Given the description of an element on the screen output the (x, y) to click on. 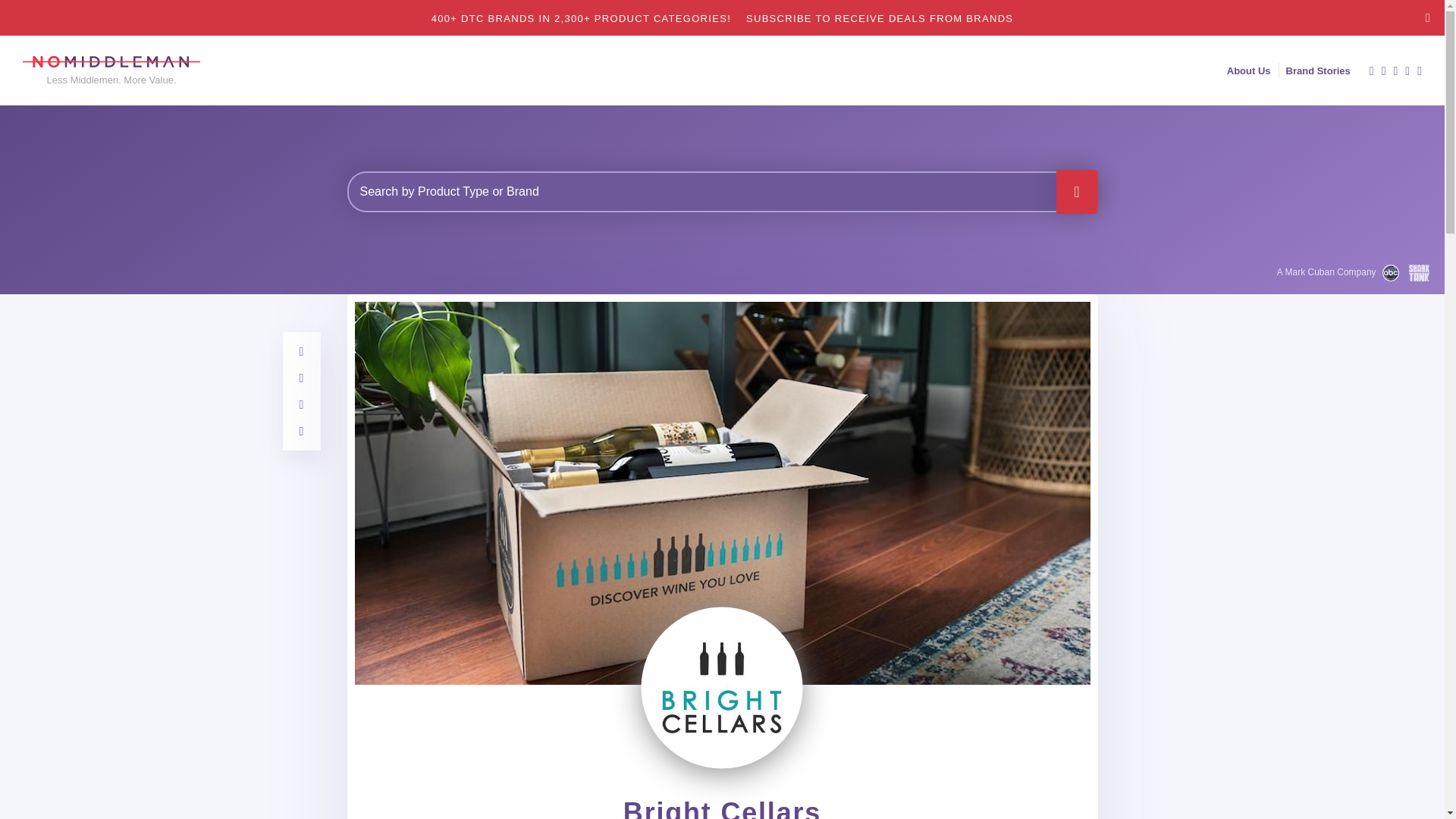
Less Middlemen. More Value. (111, 70)
About Us (1249, 70)
Brand Stories (1318, 70)
